Given the description of an element on the screen output the (x, y) to click on. 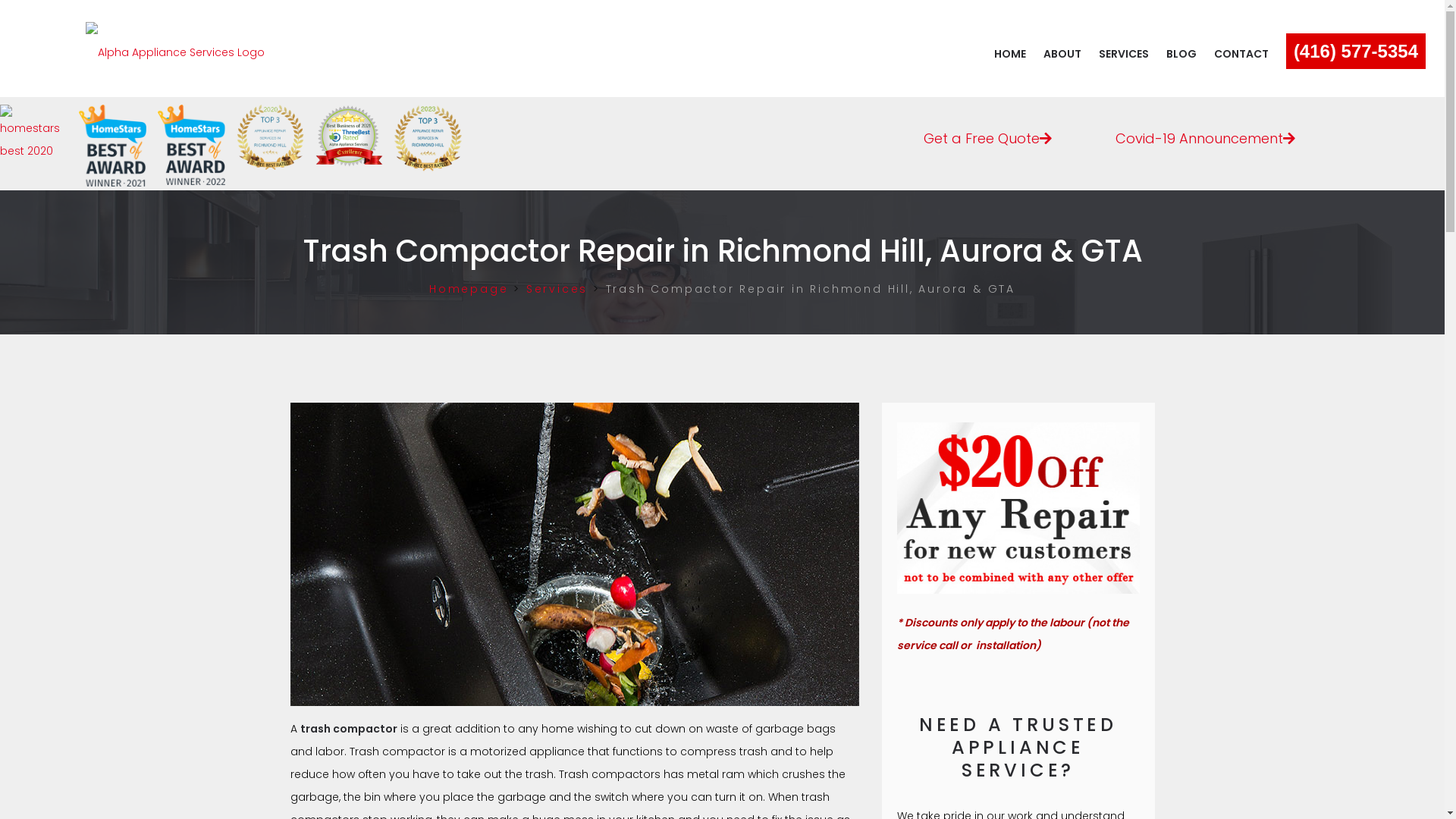
(416) 577-5354 Element type: text (1355, 51)
Homepage Element type: text (468, 288)
Covid-19 Announcement Element type: text (1205, 134)
CONTACT Element type: text (1241, 53)
Get a Free Quote Element type: text (987, 134)
SERVICES Element type: text (1123, 53)
ABOUT Element type: text (1062, 53)
BLOG Element type: text (1181, 53)
Services Element type: text (556, 288)
HOME Element type: text (1010, 53)
